Given the description of an element on the screen output the (x, y) to click on. 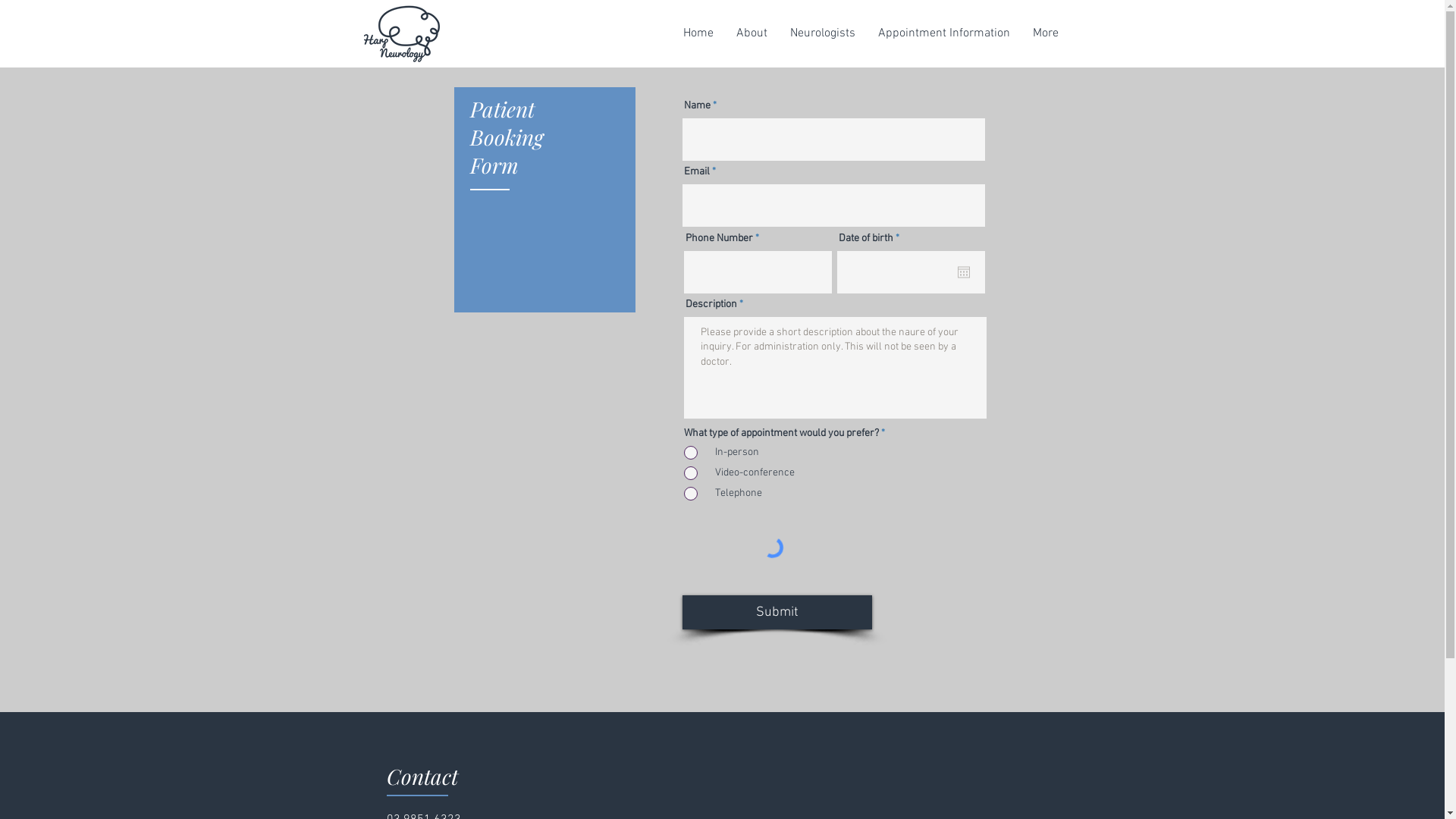
Home Element type: text (697, 33)
About Element type: text (751, 33)
Submit Element type: text (777, 612)
Appointment Information Element type: text (943, 33)
